Given the description of an element on the screen output the (x, y) to click on. 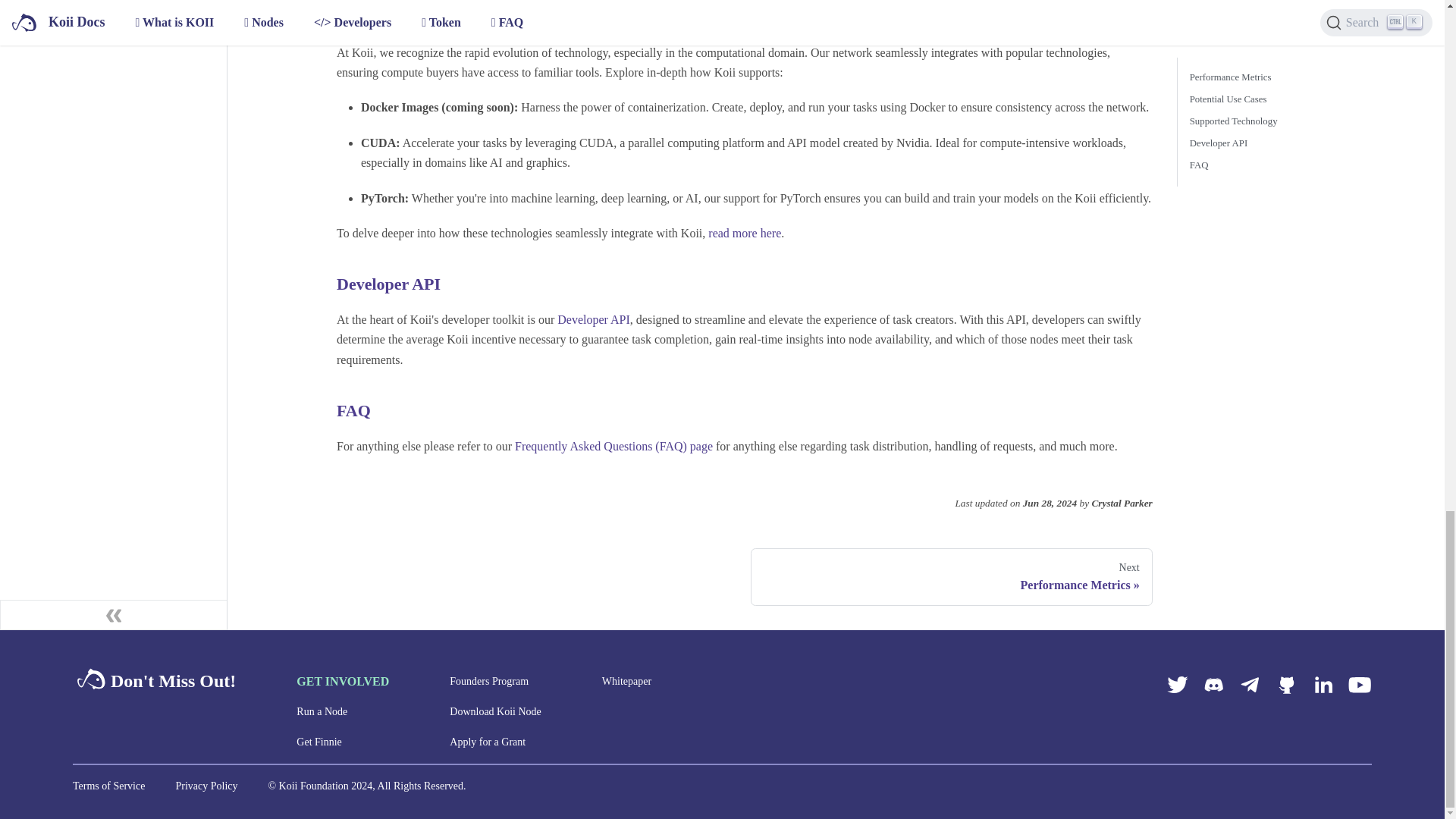
Apply for a Grant (487, 741)
read more here (743, 232)
Developer API (952, 576)
Get Finnie (593, 318)
Download Koii Node (319, 741)
Whitepaper (495, 711)
Founders Program (626, 681)
Run a Node (488, 681)
